Given the description of an element on the screen output the (x, y) to click on. 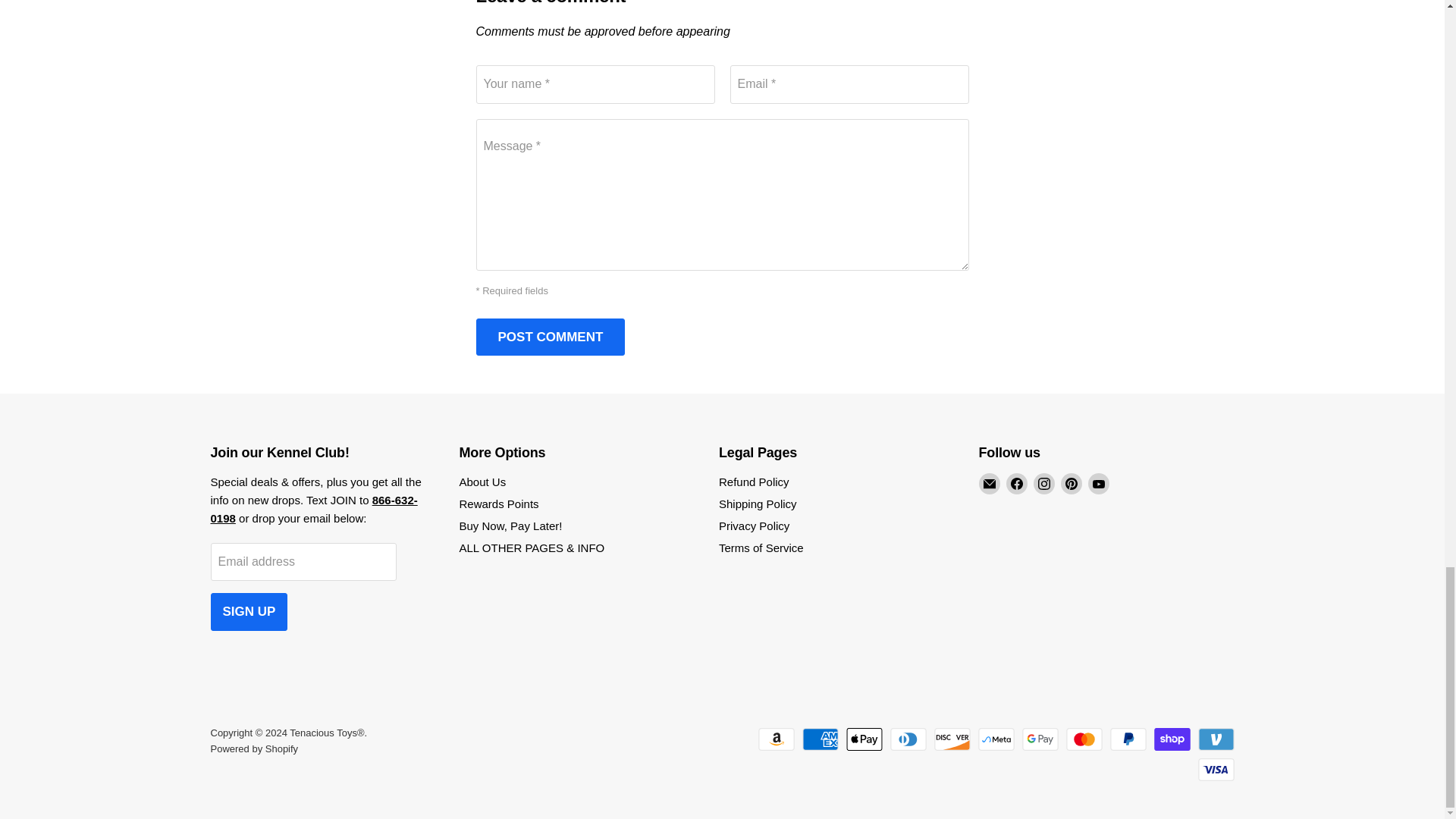
Email (988, 483)
Apple Pay (863, 739)
Pinterest (1070, 483)
Instagram (1043, 483)
Facebook (1016, 483)
Diners Club (907, 739)
YouTube (1097, 483)
Links (314, 508)
Amazon (776, 739)
American Express (820, 739)
